Given the description of an element on the screen output the (x, y) to click on. 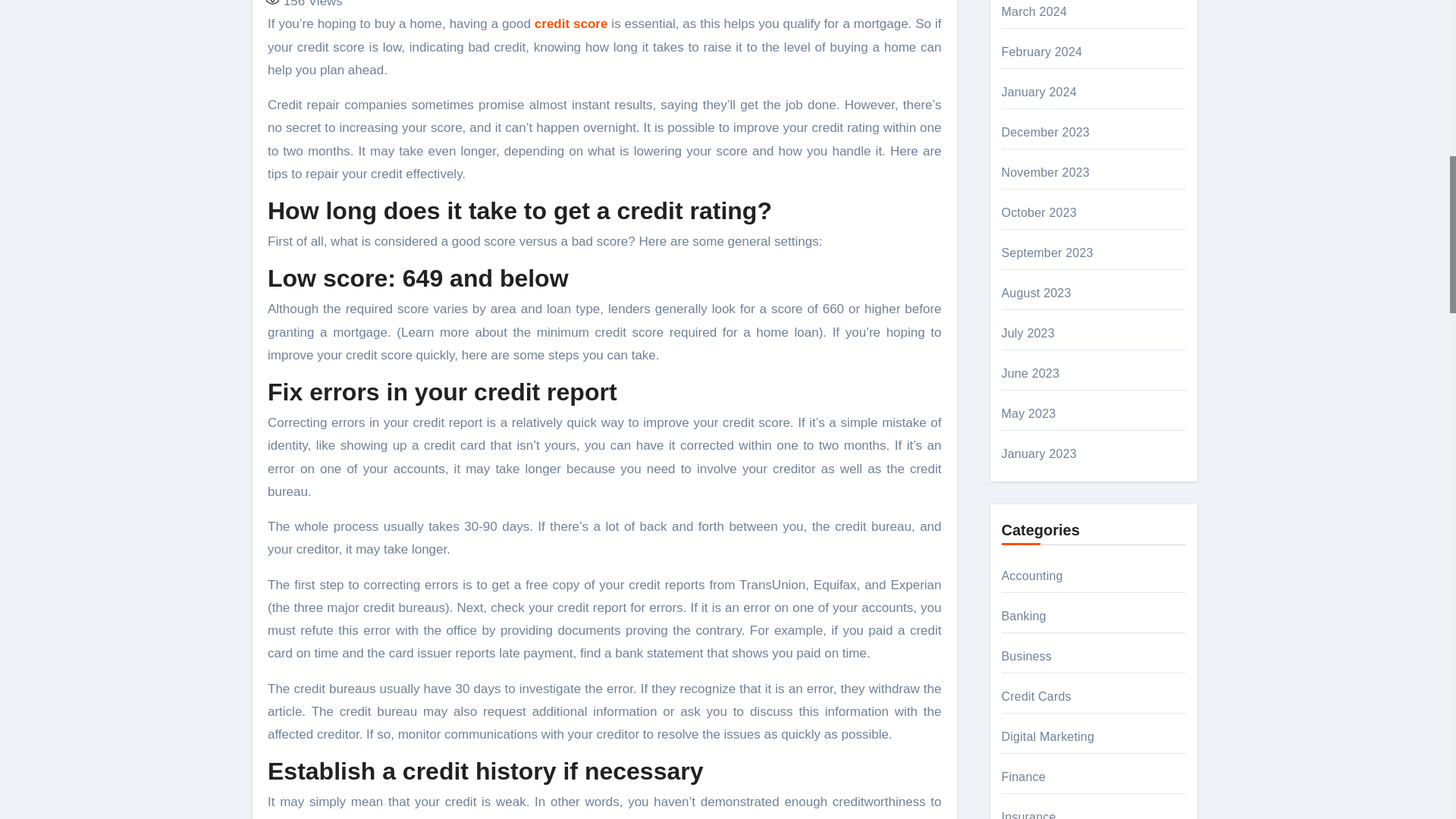
credit score (571, 23)
